Given the description of an element on the screen output the (x, y) to click on. 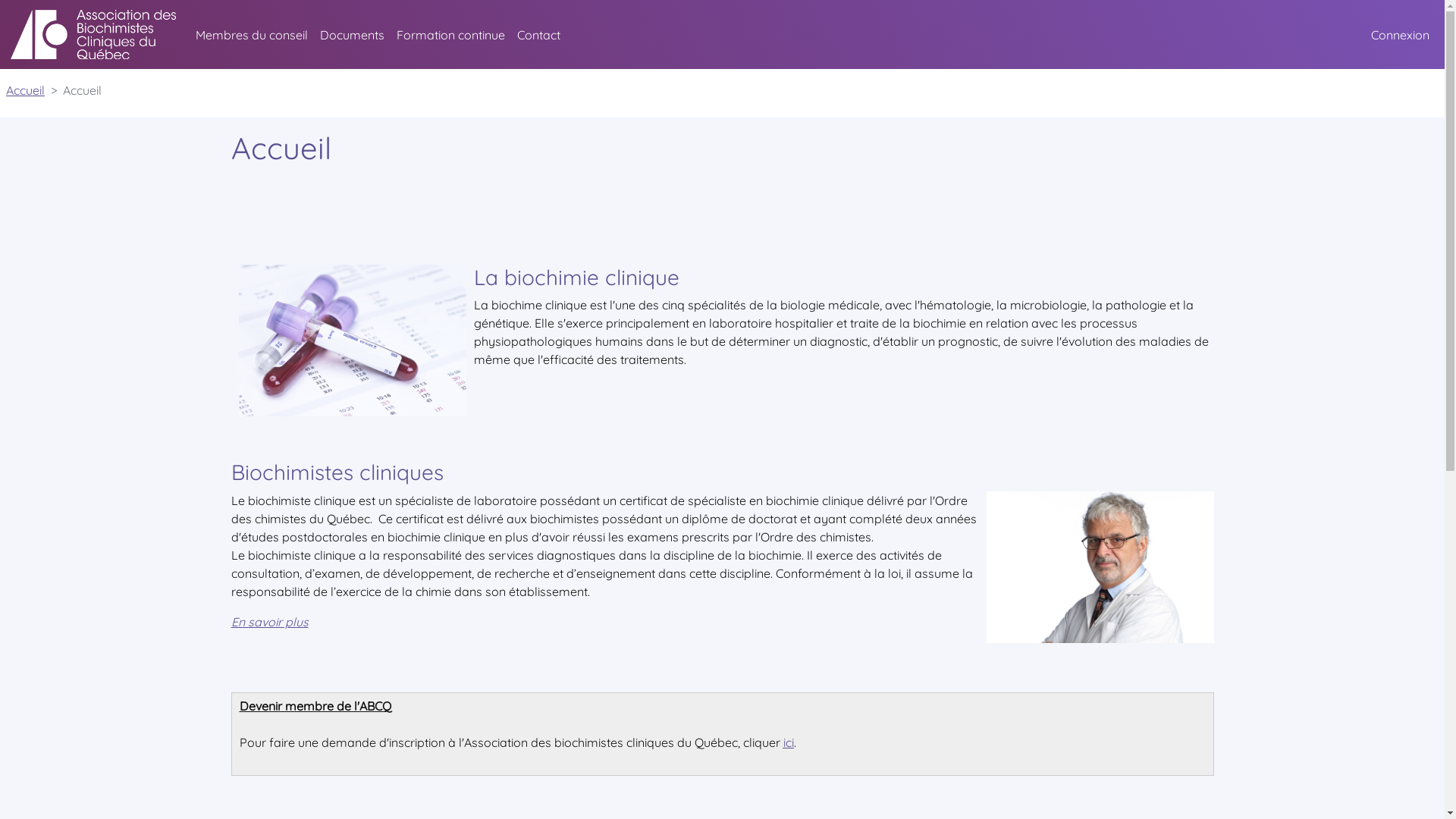
ici Element type: text (787, 741)
Accueil Element type: text (25, 89)
Contact Element type: text (538, 34)
En savoir plus Element type: text (268, 621)
Membres du conseil Element type: text (251, 34)
Documents Element type: text (351, 34)
Connexion Element type: text (1400, 34)
Formation continue Element type: text (450, 34)
